Given the description of an element on the screen output the (x, y) to click on. 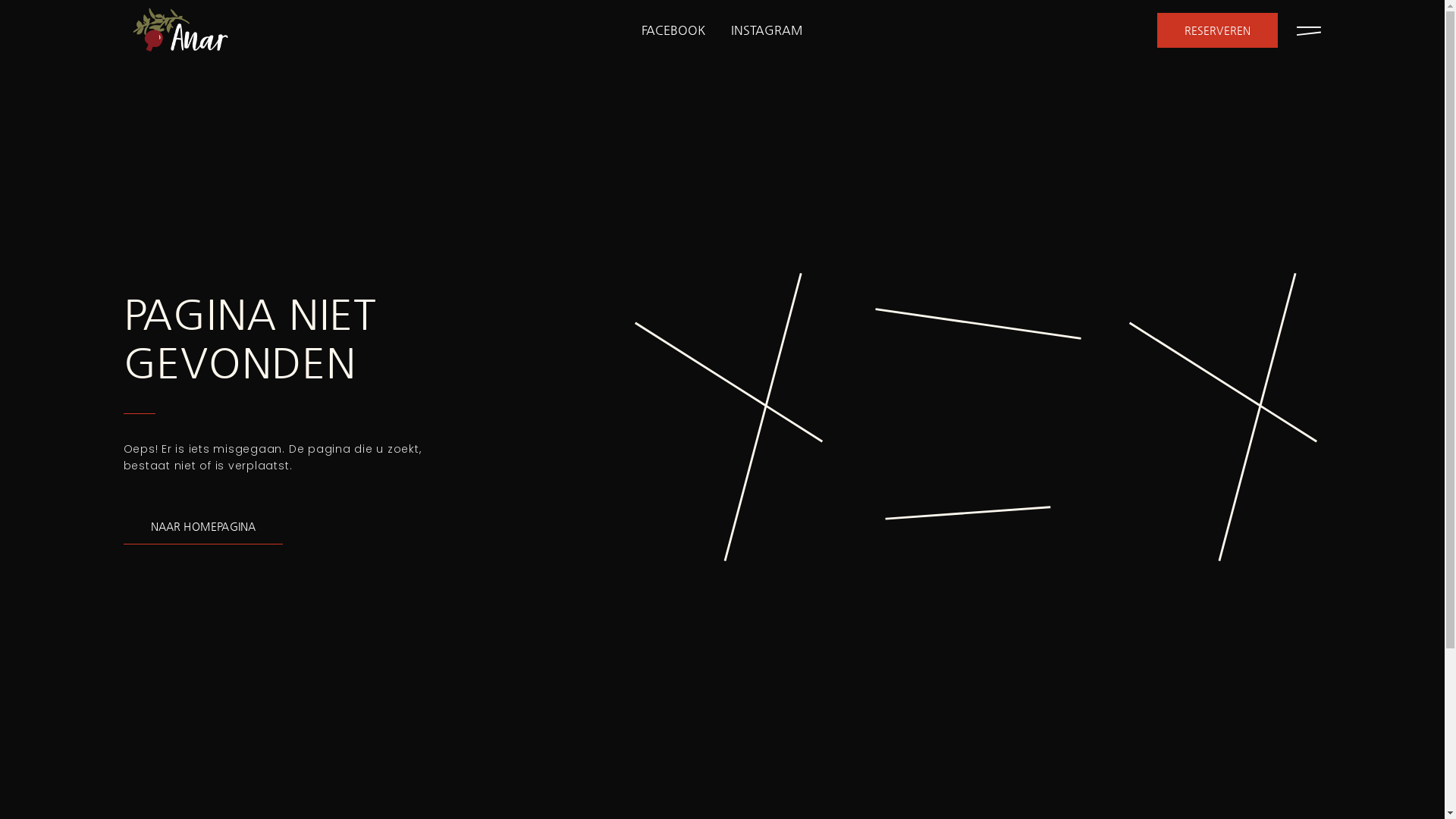
RESERVEREN Element type: text (1217, 29)
INSTAGRAM Element type: text (767, 30)
FACEBOOK Element type: text (673, 30)
NAAR HOMEPAGINA Element type: text (202, 526)
